Given the description of an element on the screen output the (x, y) to click on. 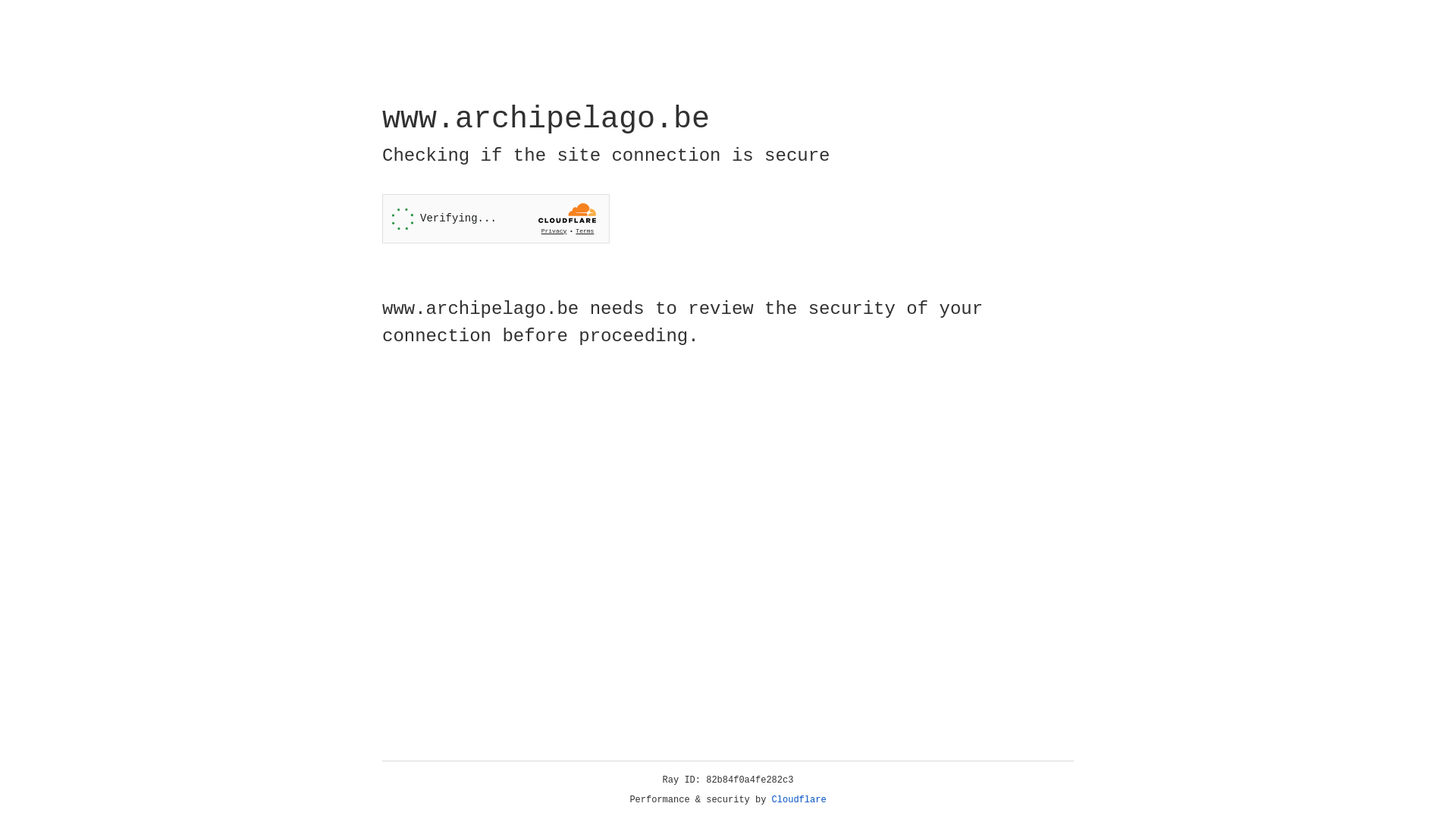
Cloudflare Element type: text (798, 799)
Widget containing a Cloudflare security challenge Element type: hover (495, 218)
